Given the description of an element on the screen output the (x, y) to click on. 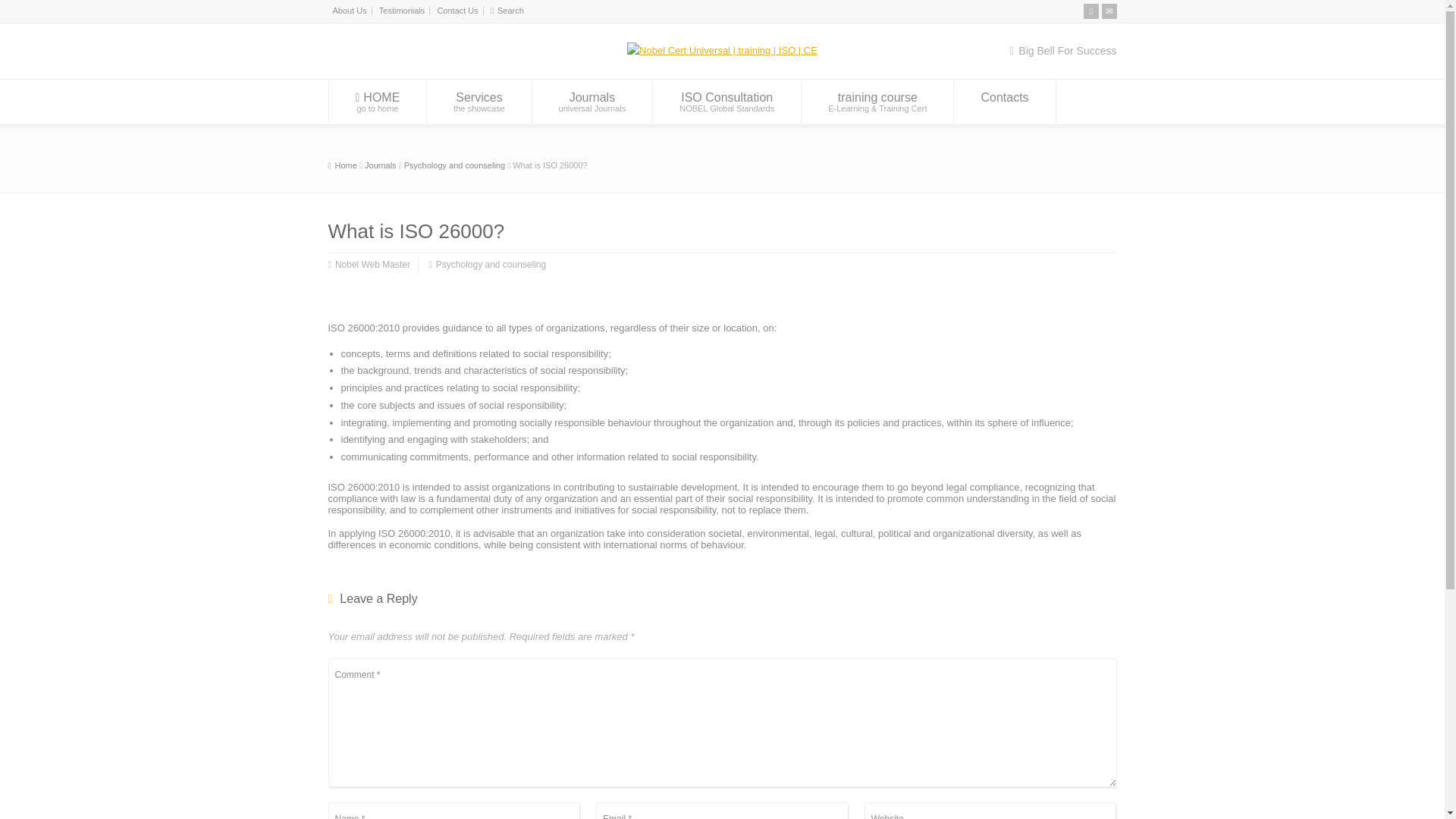
Website (990, 810)
About Us (592, 101)
Testimonials (348, 10)
Posts by Nobel Web Master (401, 10)
RSS (372, 264)
Email (377, 101)
